Given the description of an element on the screen output the (x, y) to click on. 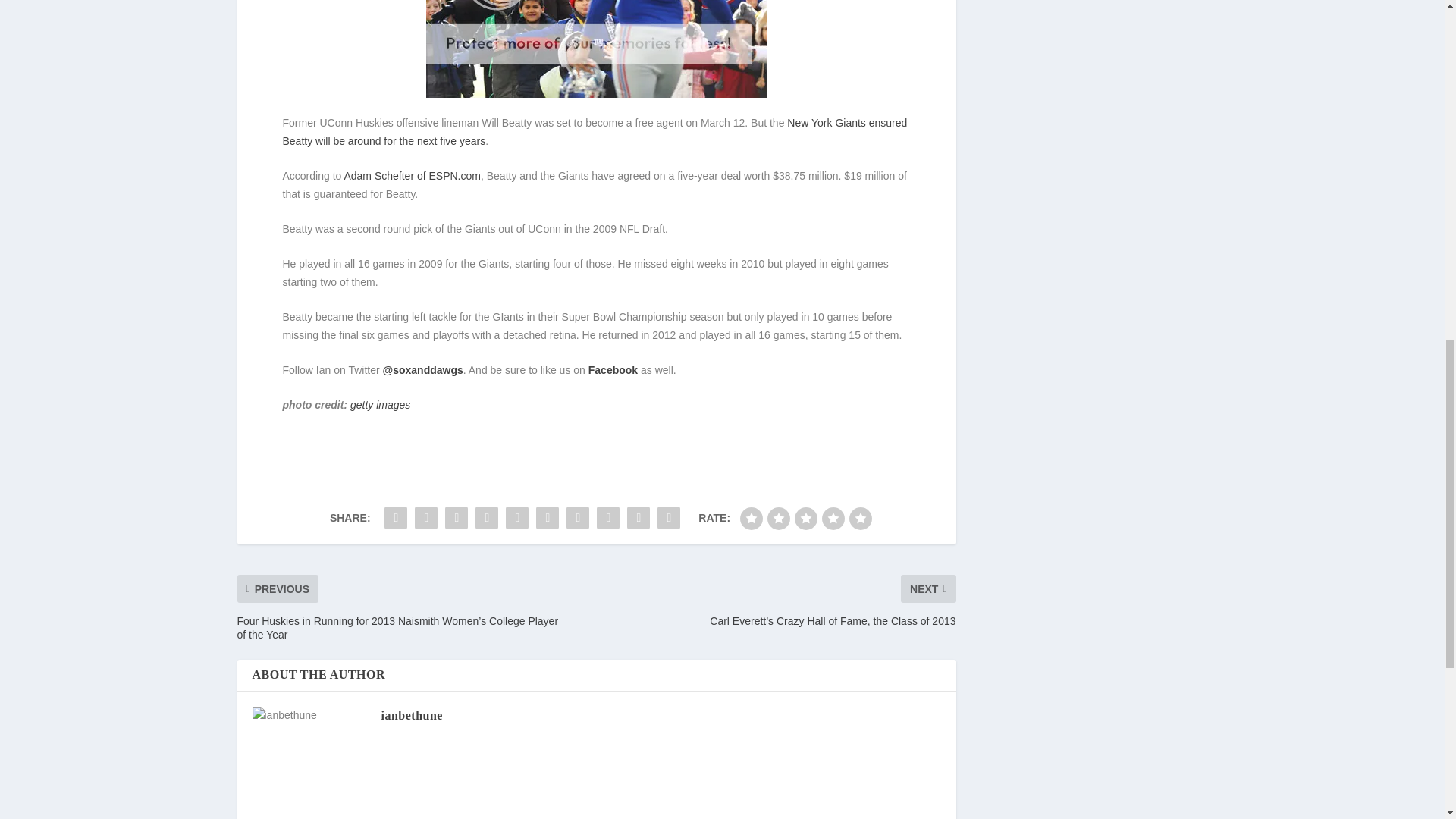
Share "Former Husky Will Beatty Gets Paid" via Print (668, 517)
Share "Former Husky Will Beatty Gets Paid" via Buffer (577, 517)
Share "Former Husky Will Beatty Gets Paid" via Facebook (395, 517)
Share "Former Husky Will Beatty Gets Paid" via LinkedIn (547, 517)
Share "Former Husky Will Beatty Gets Paid" via Stumbleupon (607, 517)
Share "Former Husky Will Beatty Gets Paid" via Email (638, 517)
Share "Former Husky Will Beatty Gets Paid" via Pinterest (517, 517)
Share "Former Husky Will Beatty Gets Paid" via Twitter (425, 517)
Share "Former Husky Will Beatty Gets Paid" via Tumblr (486, 517)
